Given the description of an element on the screen output the (x, y) to click on. 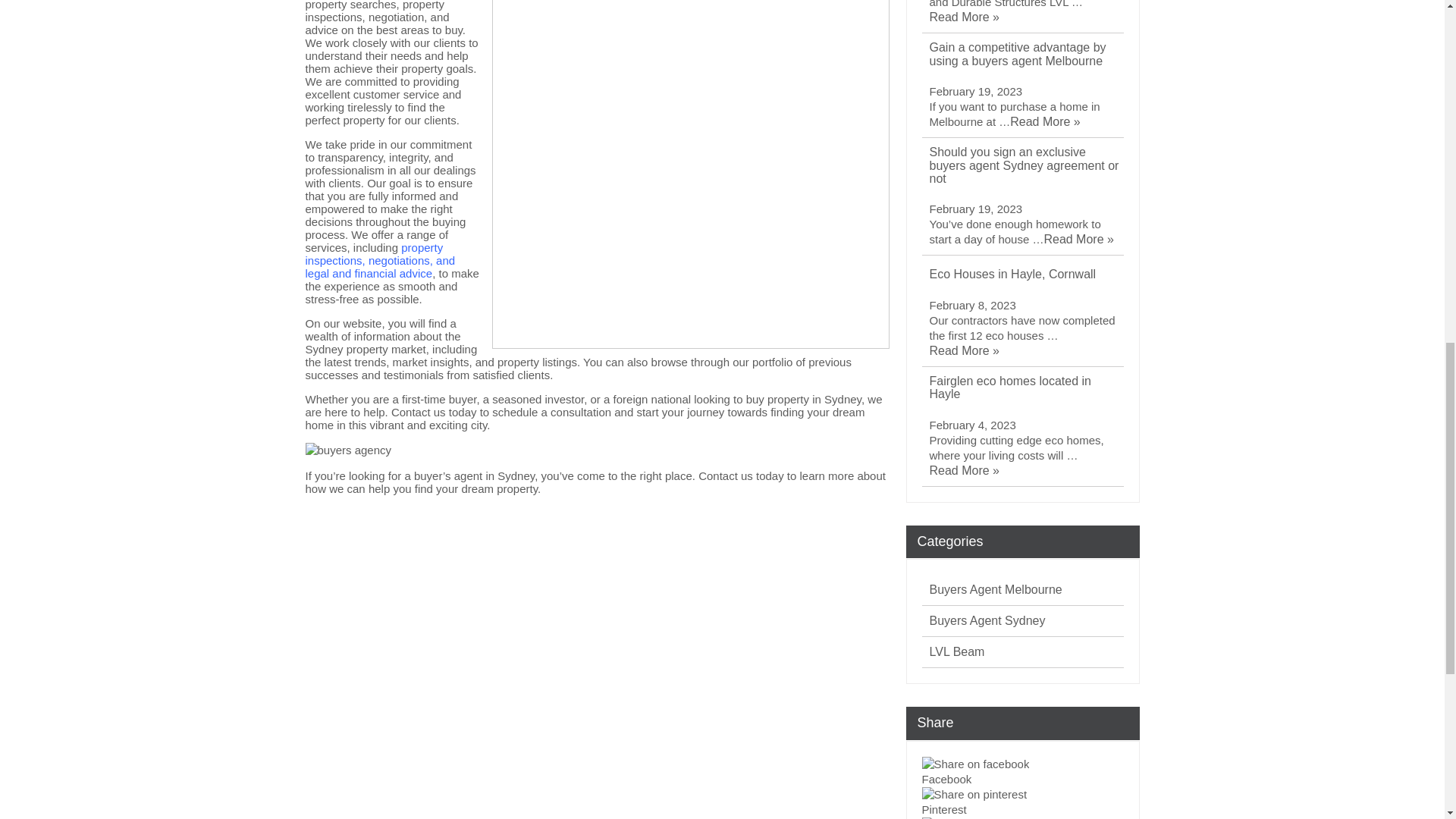
Buyers Agent Sydney (987, 620)
pinterest (974, 794)
Pinterest (1022, 803)
Facebook (1022, 779)
Buyers Agent Melbourne (996, 589)
LVL Beam (957, 652)
twitter (967, 818)
Facebook (1022, 778)
Eco Houses in Hayle, Cornwall (1013, 274)
facebook (975, 764)
Pinterest (1022, 809)
